Given the description of an element on the screen output the (x, y) to click on. 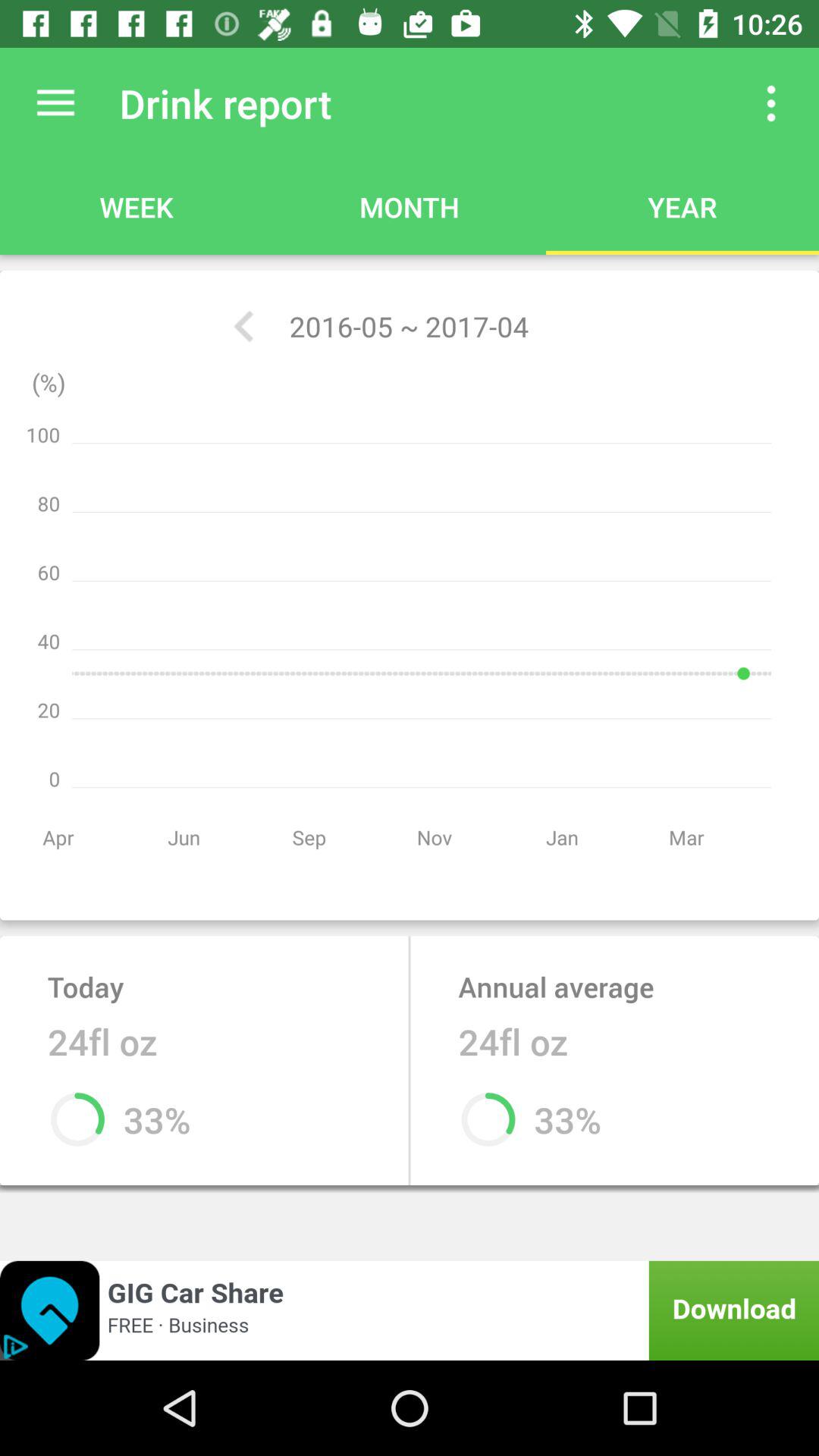
tap the icon to the left of 2016 05 2017 item (243, 326)
